Given the description of an element on the screen output the (x, y) to click on. 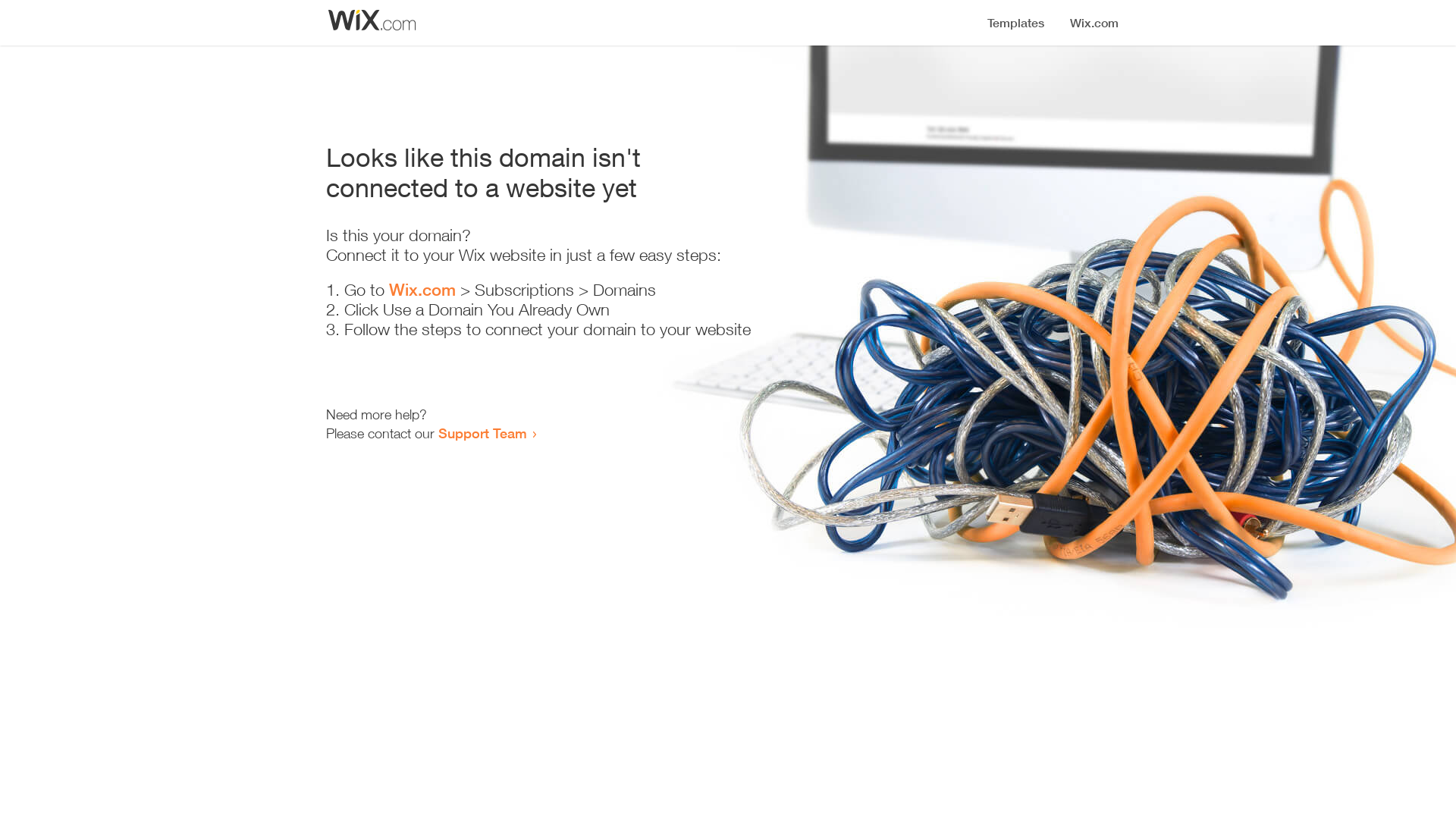
Wix.com Element type: text (422, 289)
Support Team Element type: text (482, 432)
